Given the description of an element on the screen output the (x, y) to click on. 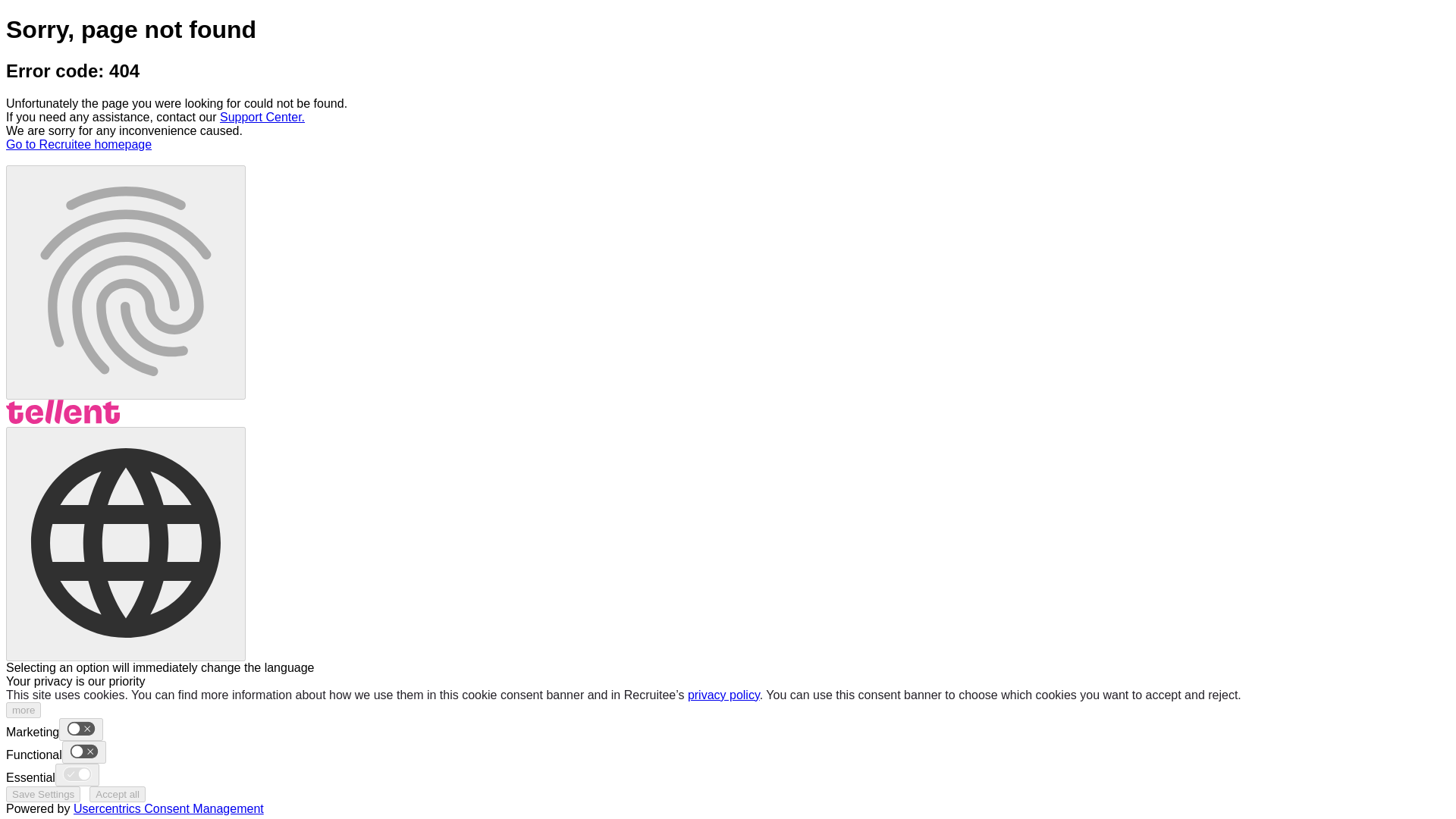
Go to Recruitee homepage (78, 144)
Support Center. (261, 116)
